Given the description of an element on the screen output the (x, y) to click on. 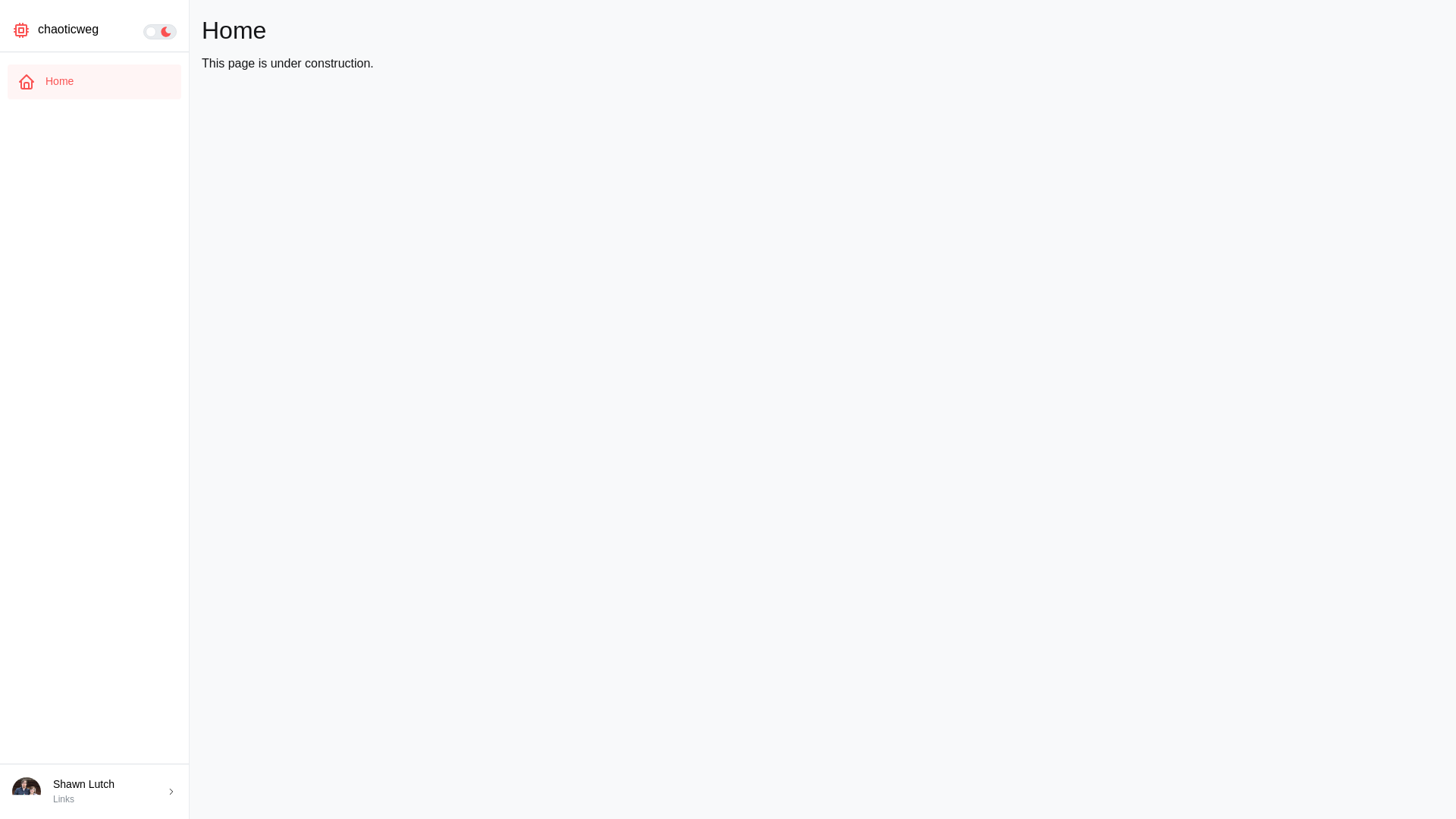
Home Element type: text (94, 81)
